Given the description of an element on the screen output the (x, y) to click on. 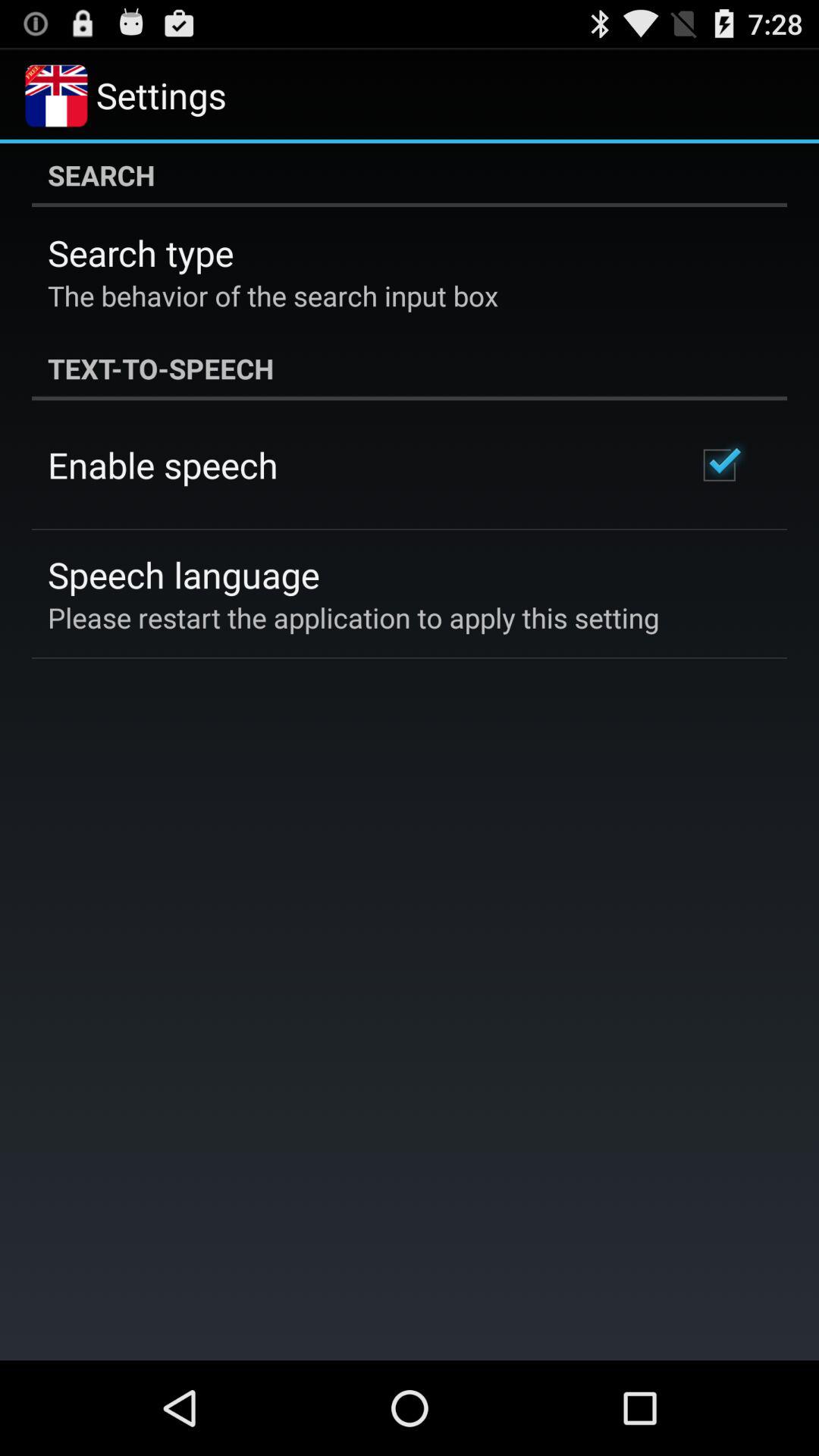
open app to the right of the enable speech app (719, 465)
